Given the description of an element on the screen output the (x, y) to click on. 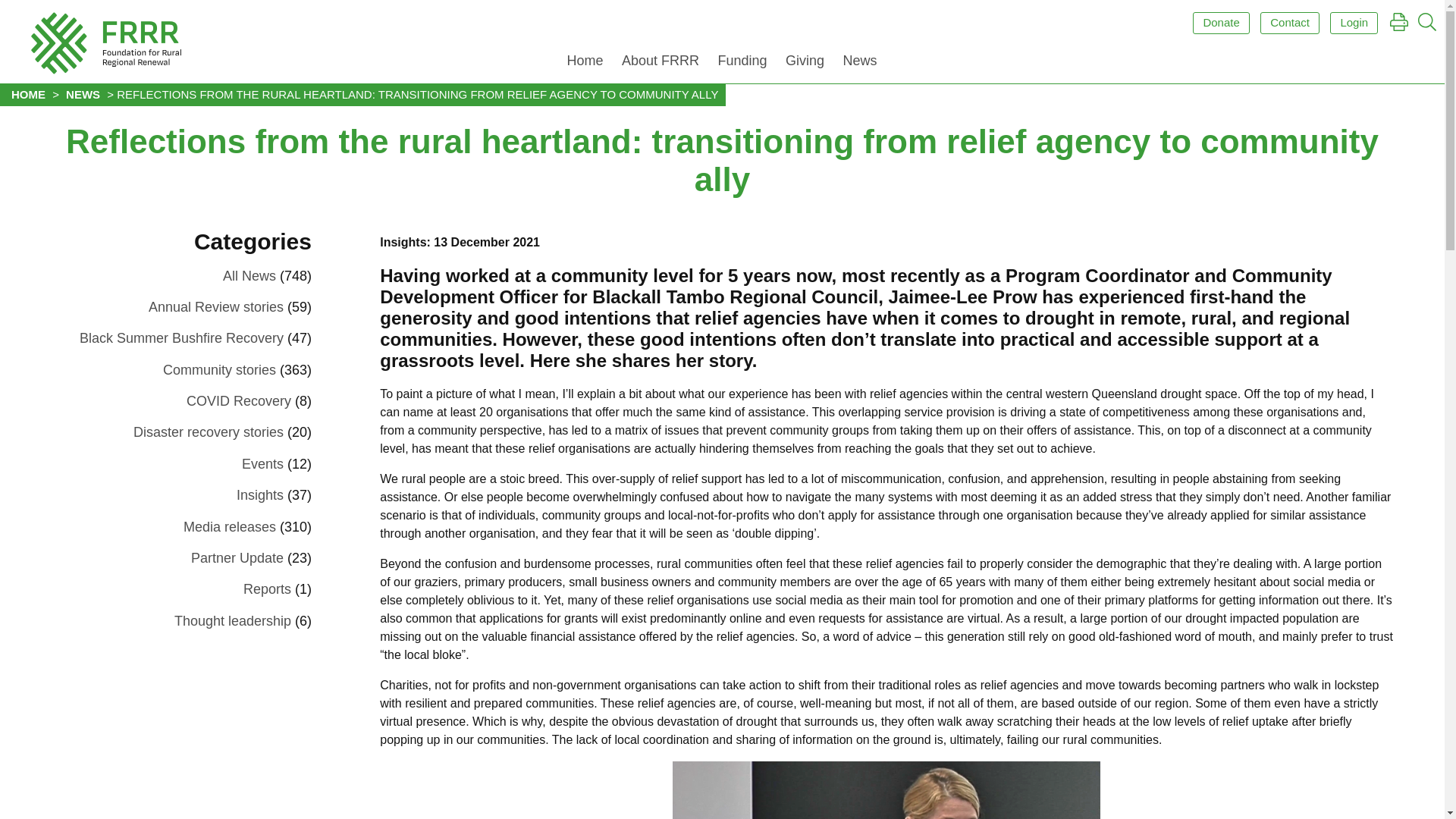
About FRRR (660, 64)
Login (1353, 23)
Contact (1289, 23)
Home (584, 64)
Funding (742, 64)
Donate (1220, 23)
Giving (804, 64)
News (858, 64)
